Given the description of an element on the screen output the (x, y) to click on. 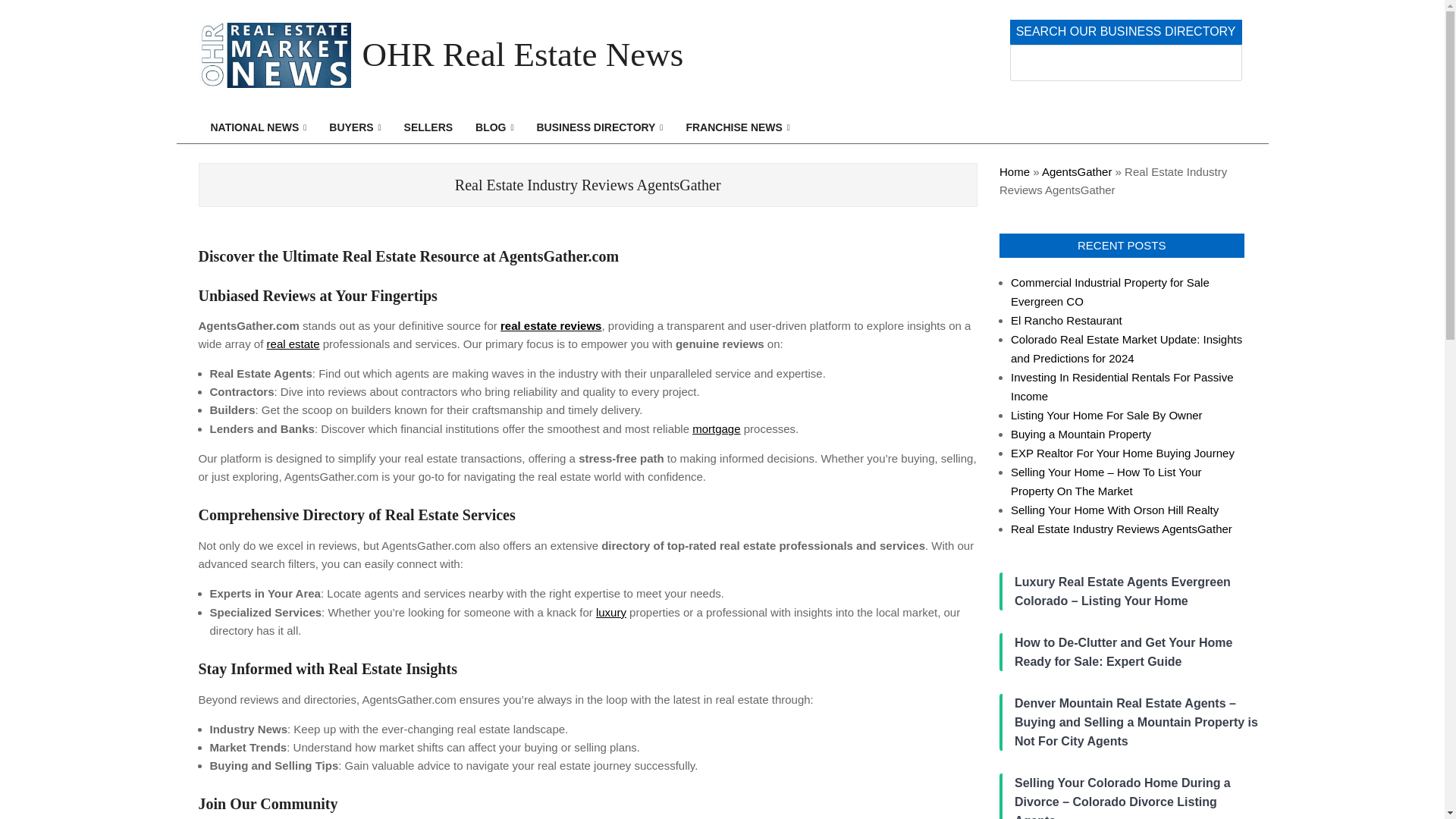
SELLERS (428, 127)
OHR Real Estate News (523, 54)
Search (35, 12)
NATIONAL NEWS (257, 127)
mortgage (716, 428)
BUSINESS DIRECTORY (599, 127)
FRANCHISE NEWS (737, 127)
BLOG (494, 127)
real estate (293, 343)
real estate reviews (550, 325)
luxury (610, 612)
BUYERS (354, 127)
